Given the description of an element on the screen output the (x, y) to click on. 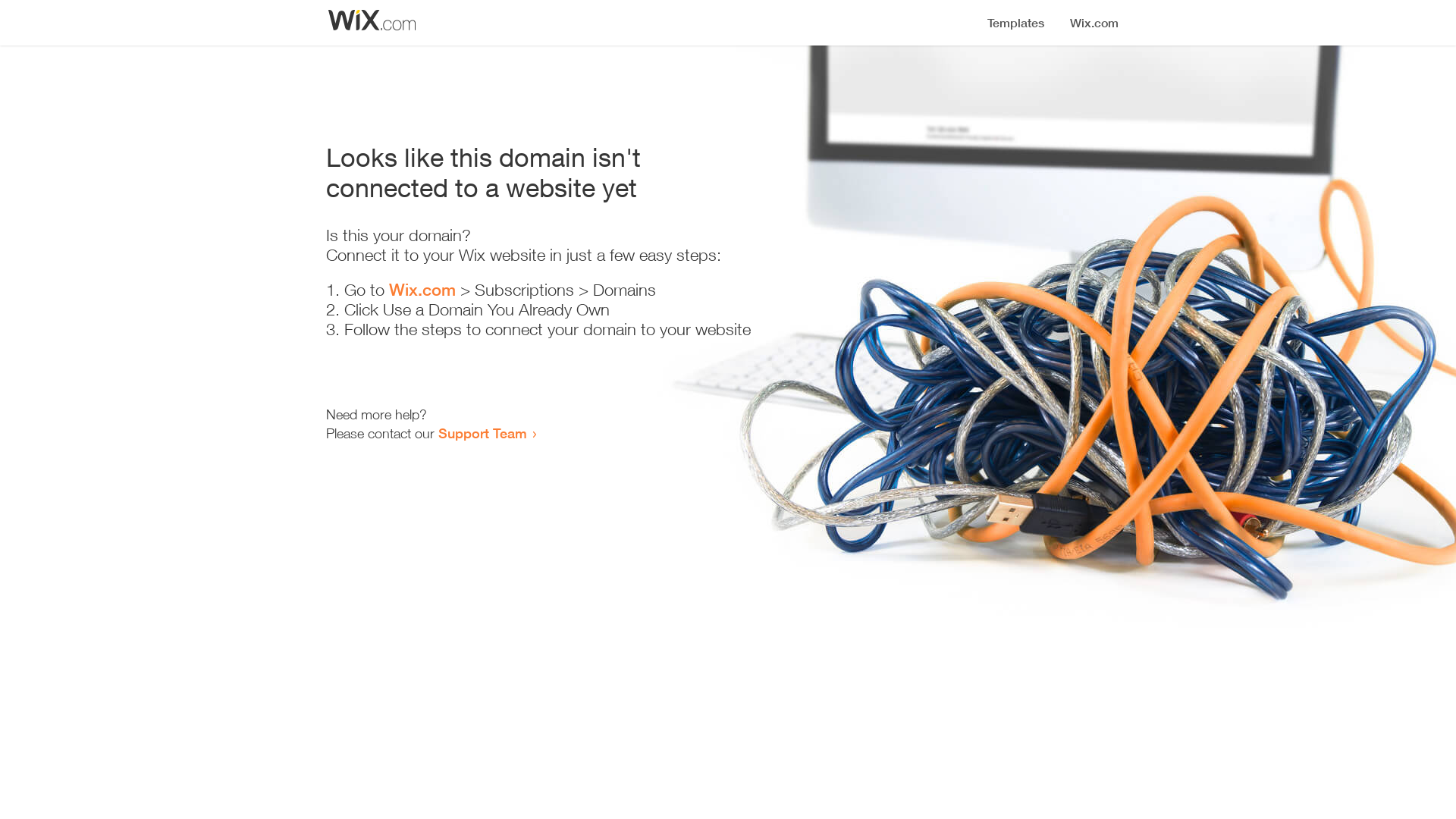
Wix.com Element type: text (422, 289)
Support Team Element type: text (482, 432)
